Given the description of an element on the screen output the (x, y) to click on. 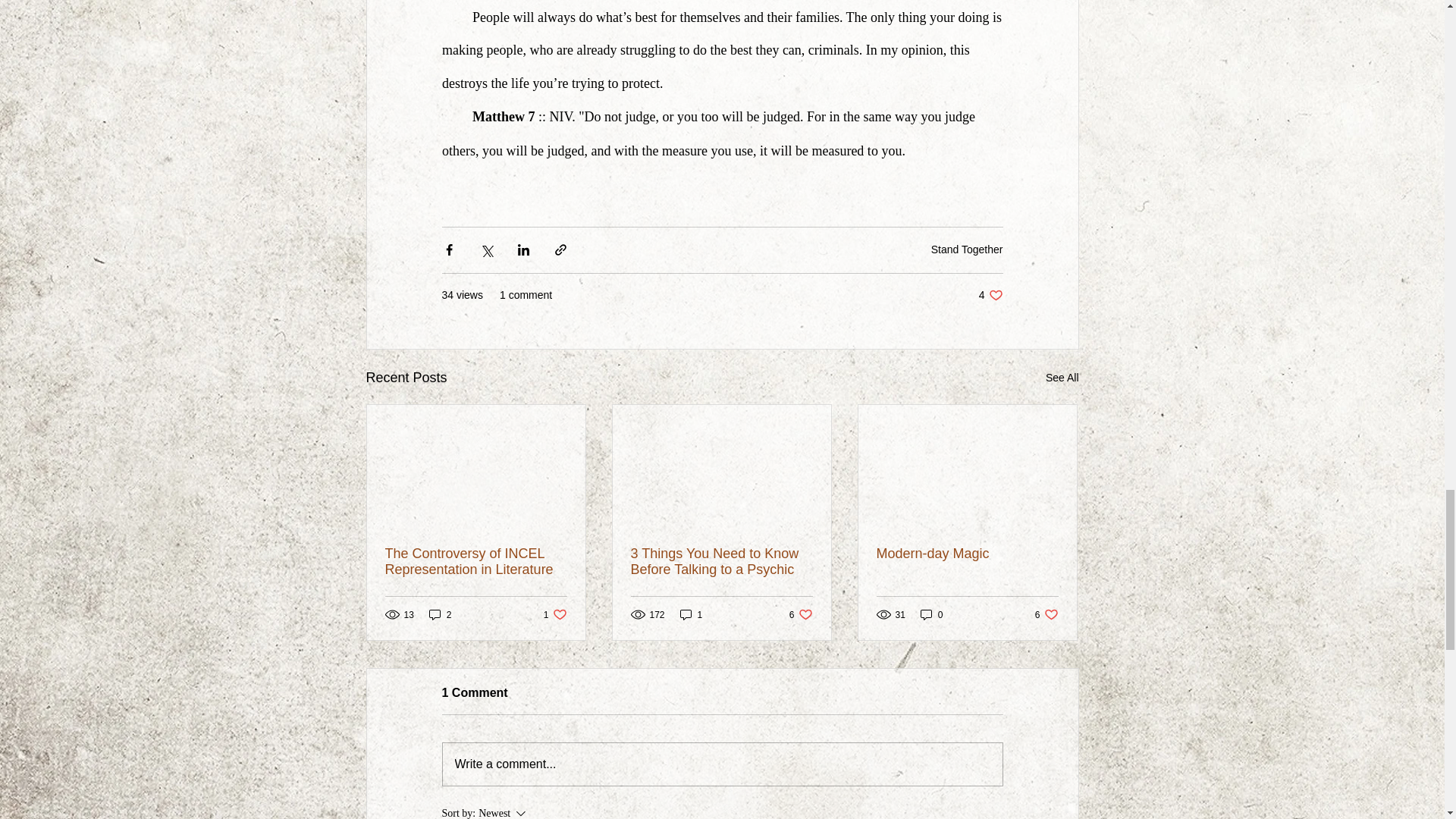
The Controversy of INCEL Representation in Literature (990, 295)
Modern-day Magic (476, 562)
3 Things You Need to Know Before Talking to a Psychic (967, 553)
2 (721, 562)
1 (800, 614)
Stand Together (440, 614)
See All (691, 614)
